Given the description of an element on the screen output the (x, y) to click on. 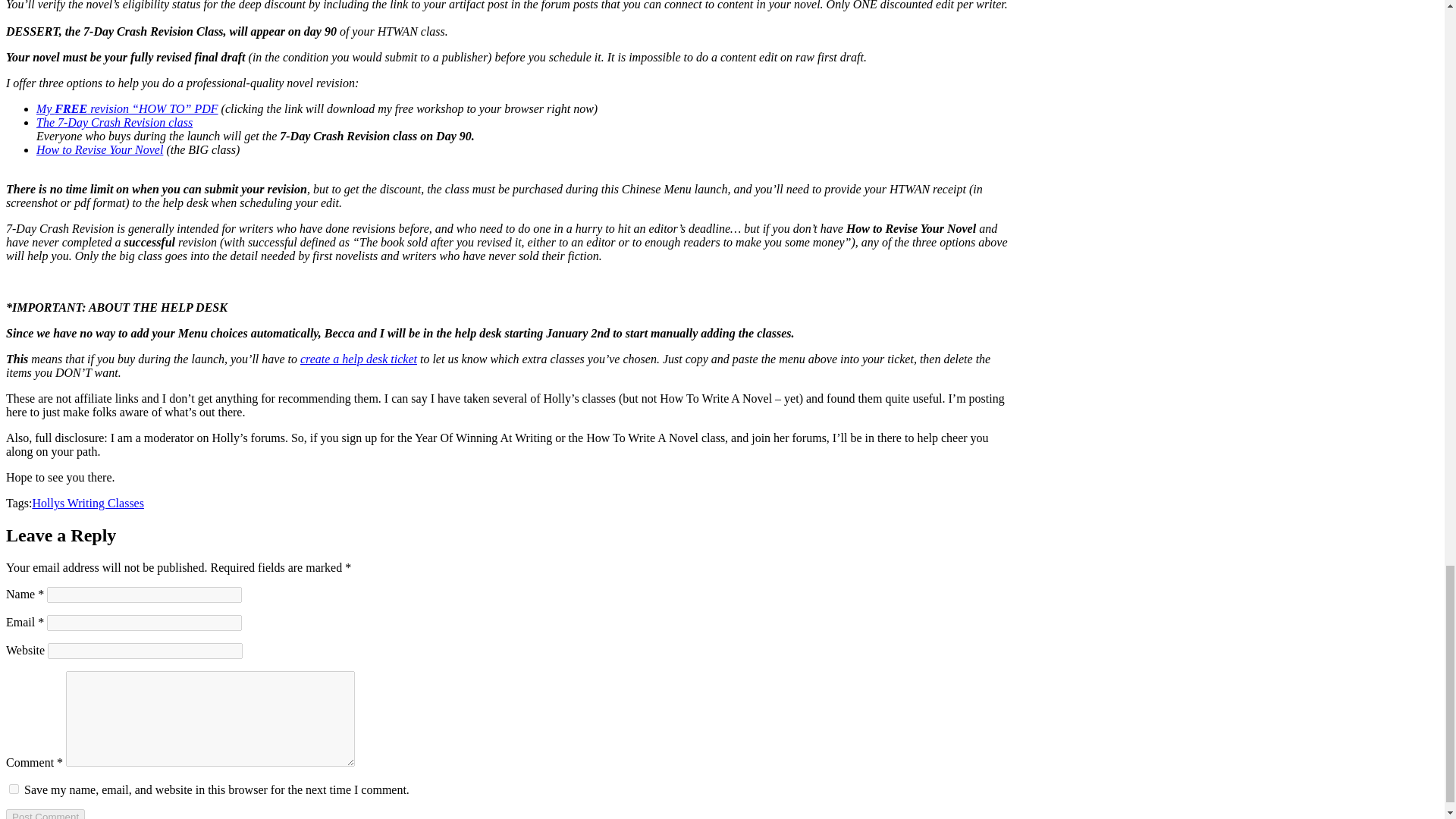
yes (13, 788)
create a help desk ticket (357, 358)
Hollys Writing Classes (88, 502)
How to Revise Your Novel (99, 149)
The 7-Day Crash Revision class (114, 122)
Hollys Writing Classes (88, 502)
